Given the description of an element on the screen output the (x, y) to click on. 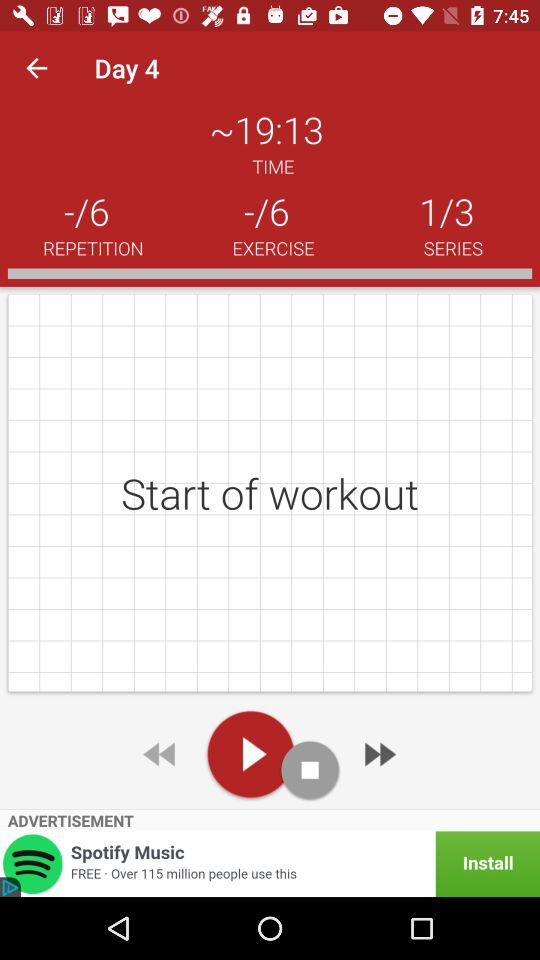
click to app install (270, 864)
